Given the description of an element on the screen output the (x, y) to click on. 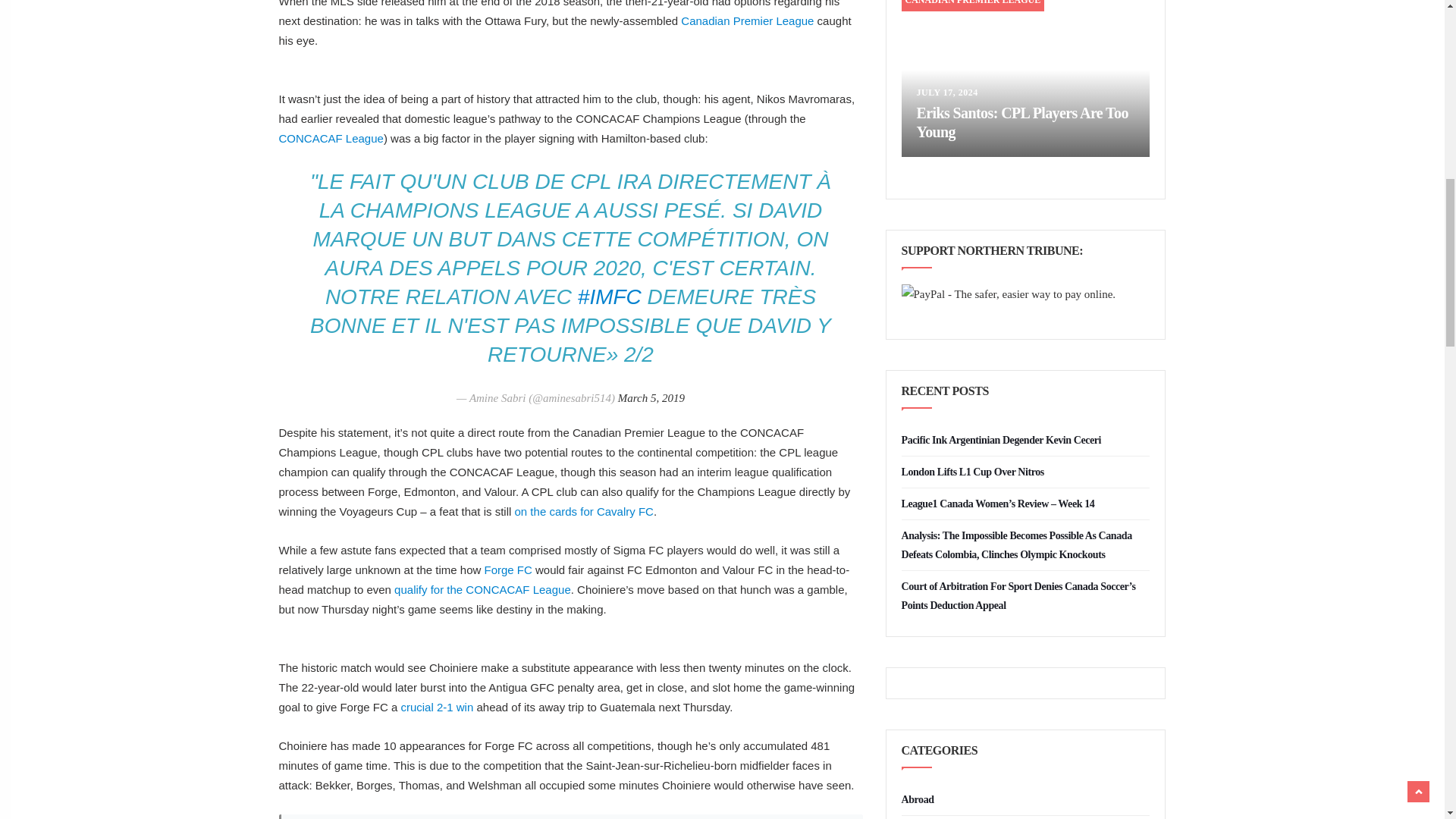
on the cards for Cavalry FC (584, 511)
Forge FC (507, 569)
CONCACAF League (331, 137)
March 5, 2019 (650, 398)
crucial 2-1 win (436, 707)
Canadian Premier League (747, 20)
qualify for the CONCACAF League (482, 589)
